Given the description of an element on the screen output the (x, y) to click on. 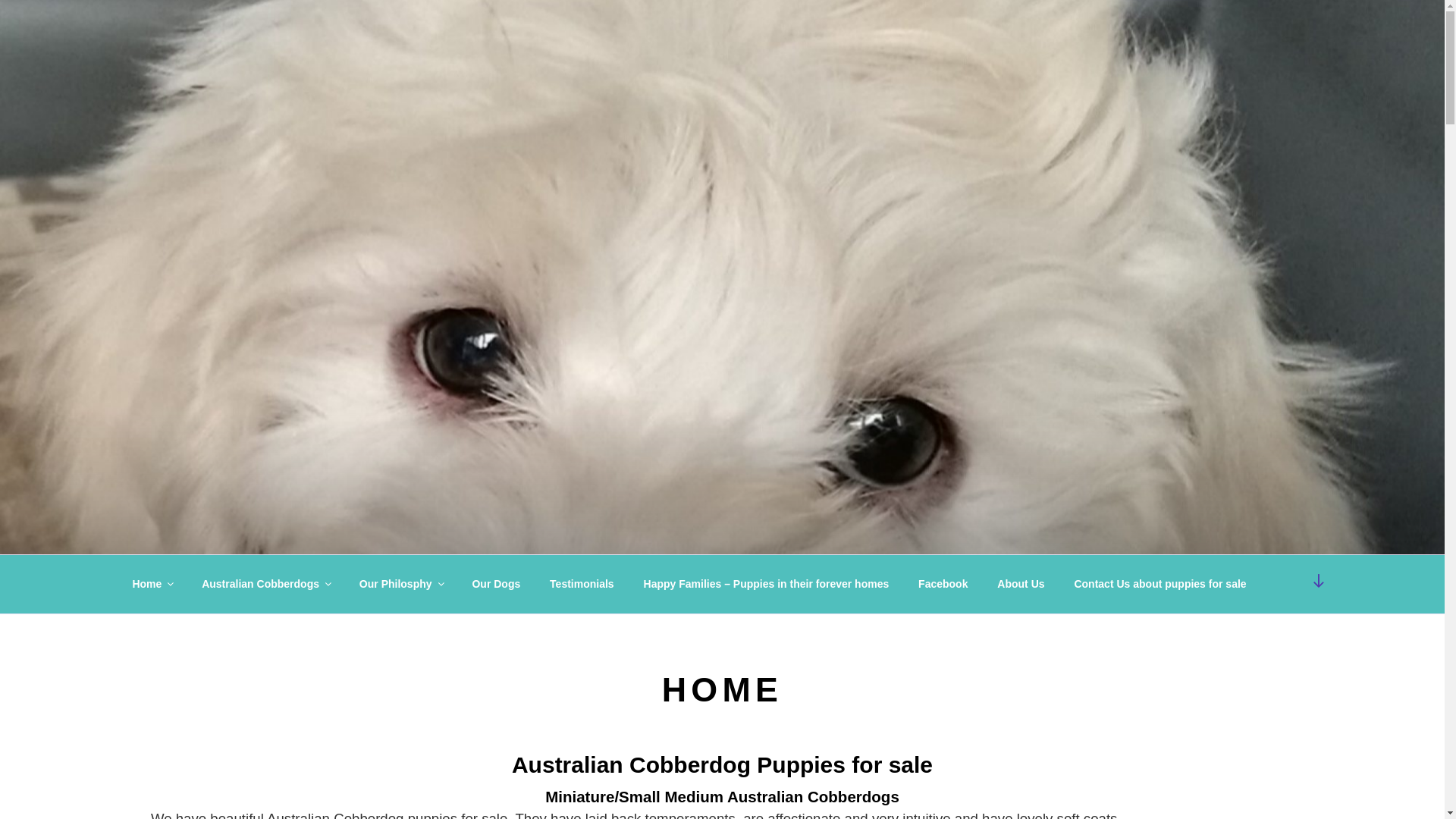
Scroll down to content Element type: text (1318, 580)
About Us Element type: text (1020, 583)
Our Philosphy Element type: text (400, 583)
Facebook Element type: text (943, 583)
Contact Us about puppies for sale Element type: text (1159, 583)
Testimonials Element type: text (581, 583)
Our Dogs Element type: text (495, 583)
Australian Cobberdogs Element type: text (265, 583)
GREAT MATES AUSTRALIAN COBBERDOGS Element type: text (448, 59)
Home Element type: text (152, 583)
